Given the description of an element on the screen output the (x, y) to click on. 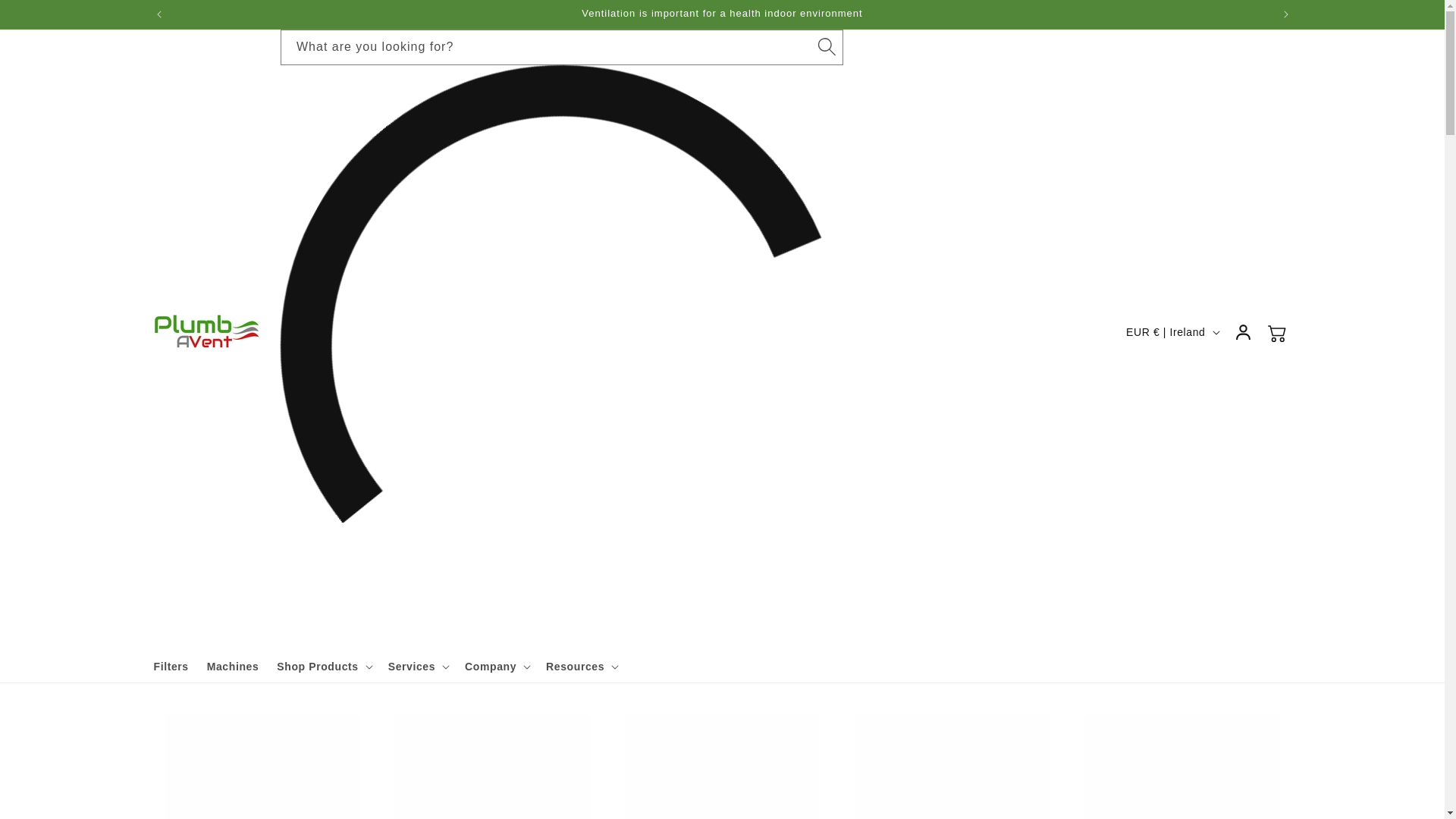
Filters (170, 666)
Skip to content (45, 17)
Machines (232, 666)
